Given the description of an element on the screen output the (x, y) to click on. 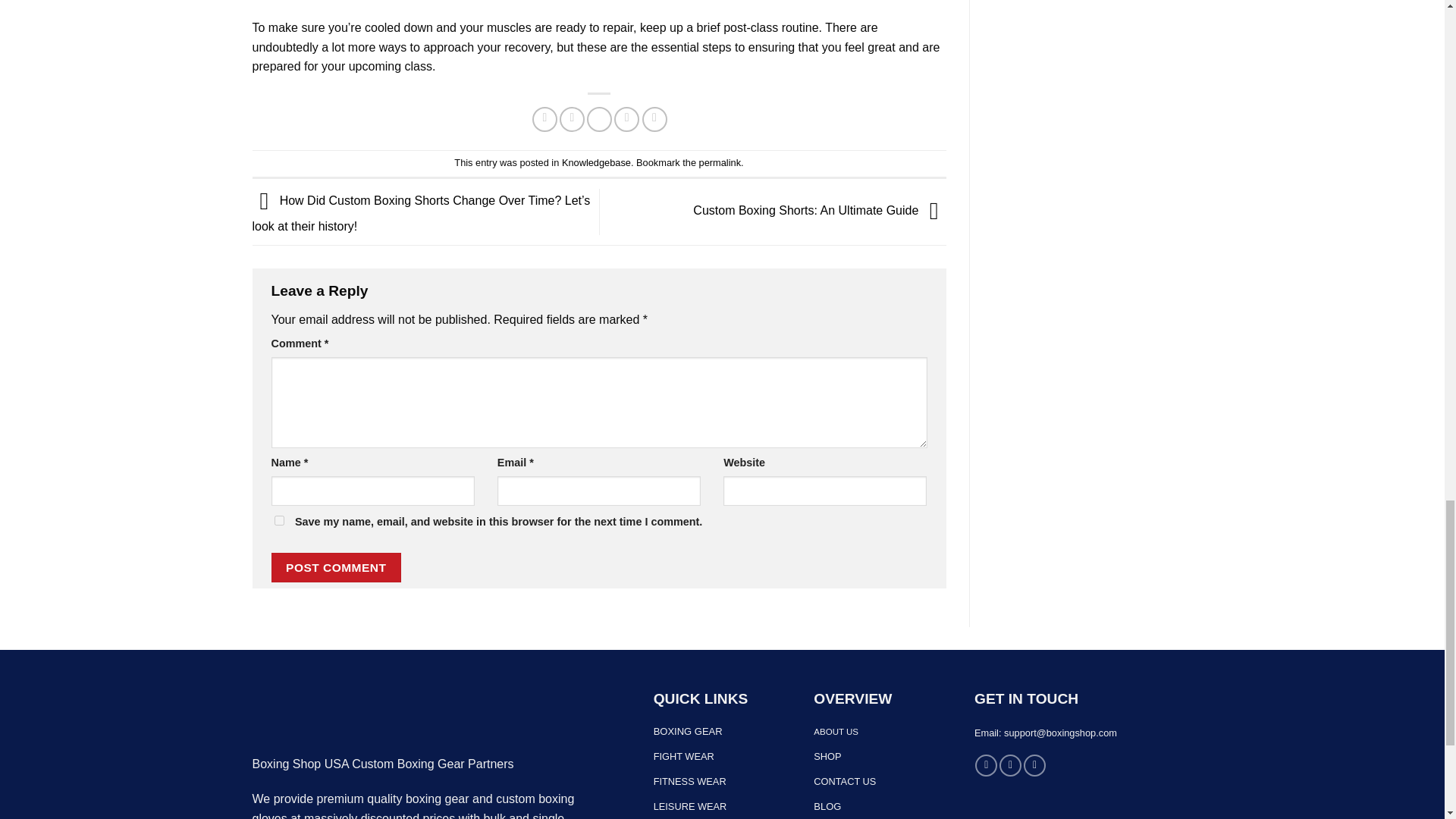
Follow on Twitter (1034, 765)
Permalink to Follow A Boxing Class: Recovery Is Essential (719, 162)
Pin on Pinterest (626, 119)
Follow on Instagram (1010, 765)
Email to a Friend (598, 119)
Follow on Facebook (986, 765)
Share on Facebook (544, 119)
Post Comment (335, 567)
Share on LinkedIn (654, 119)
Share on Twitter (572, 119)
